Given the description of an element on the screen output the (x, y) to click on. 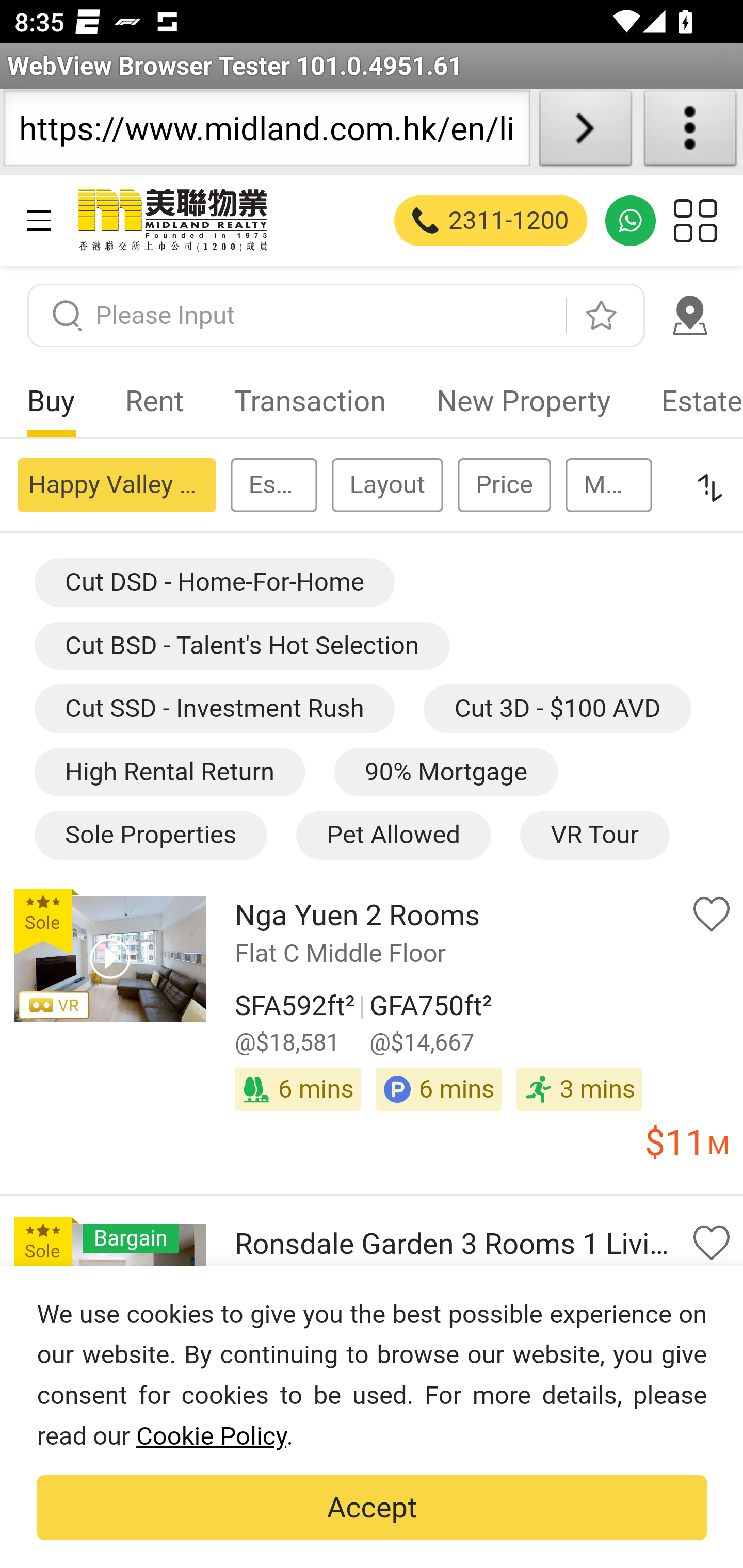
Load URL (585, 132)
About WebView (690, 132)
Midland Realty - Property Agency in Hong Kong (171, 220)
2311-1200 (490, 219)
WhatsApp: 2311-1200 (630, 219)
Map Search (689, 314)
Buy (50, 401)
Rent (154, 401)
Transaction (310, 401)
New Property (523, 401)
Estate (689, 401)
Estates (273, 484)
Layout (386, 484)
Price (504, 484)
More (608, 484)
Cut DSD - Home-For-Home (213, 583)
Cut BSD - Talent's Hot Selection (241, 644)
Cut SSD - Investment Rush (213, 710)
Cut 3D - $100 AVD (556, 710)
High Rental Return (169, 772)
90% Mortgage (445, 772)
Sole Properties (149, 835)
Pet Allowed (392, 835)
VR Tour (593, 835)
Cookie Policy (210, 1435)
Accept (372, 1508)
